Given the description of an element on the screen output the (x, y) to click on. 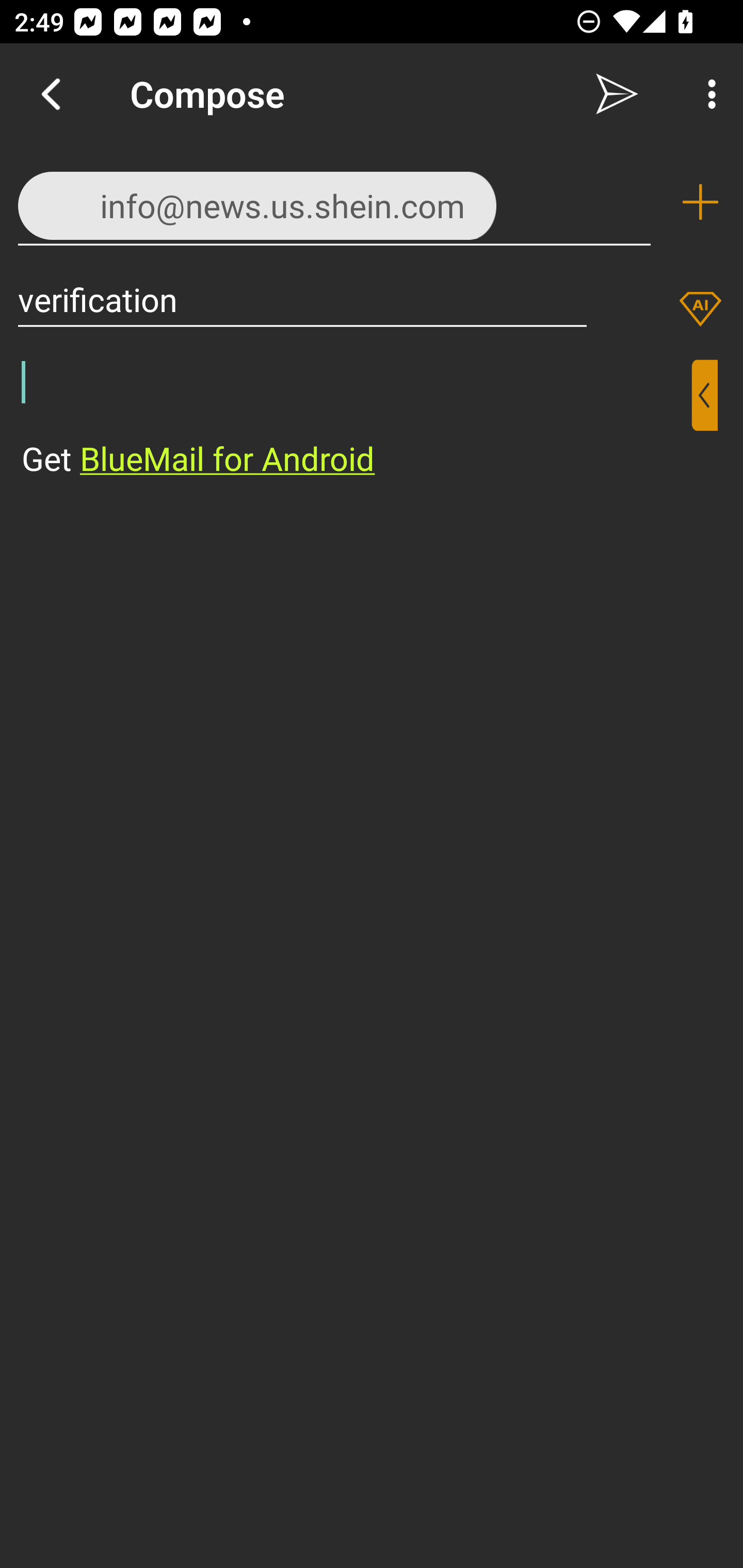
Navigate up (50, 93)
Send (616, 93)
More Options (706, 93)
<info@news.us.shein.com>,  (334, 201)
Add recipient (To) (699, 201)
verification (302, 299)


⁣Get BlueMail for Android ​ (355, 419)
